Given the description of an element on the screen output the (x, y) to click on. 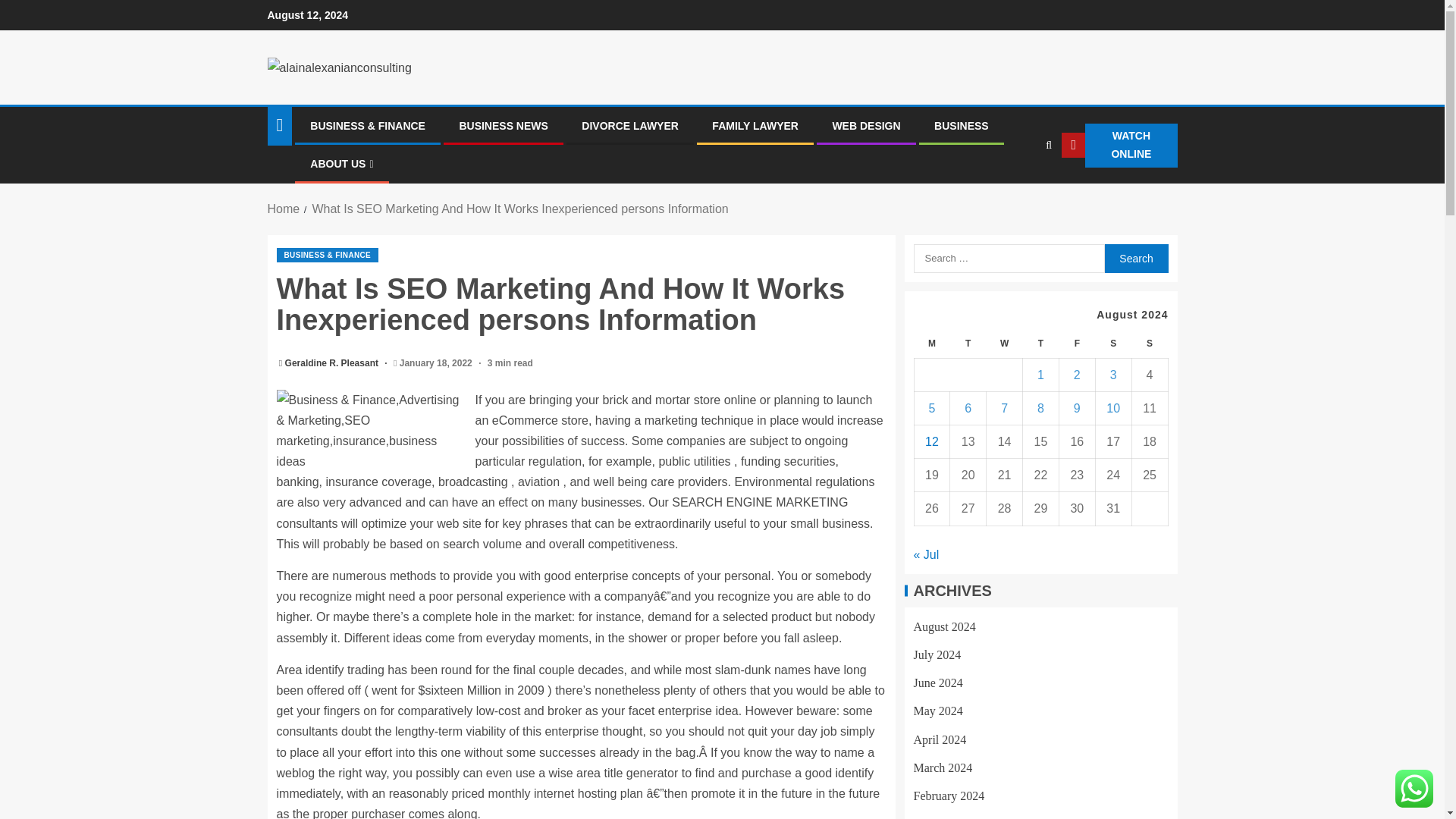
Sunday (1149, 343)
Search (1135, 258)
BUSINESS (961, 125)
Search (1135, 258)
Wednesday (1005, 343)
Tuesday (968, 343)
Friday (1076, 343)
BUSINESS NEWS (502, 125)
Monday (932, 343)
WATCH ONLINE (1118, 145)
